Given the description of an element on the screen output the (x, y) to click on. 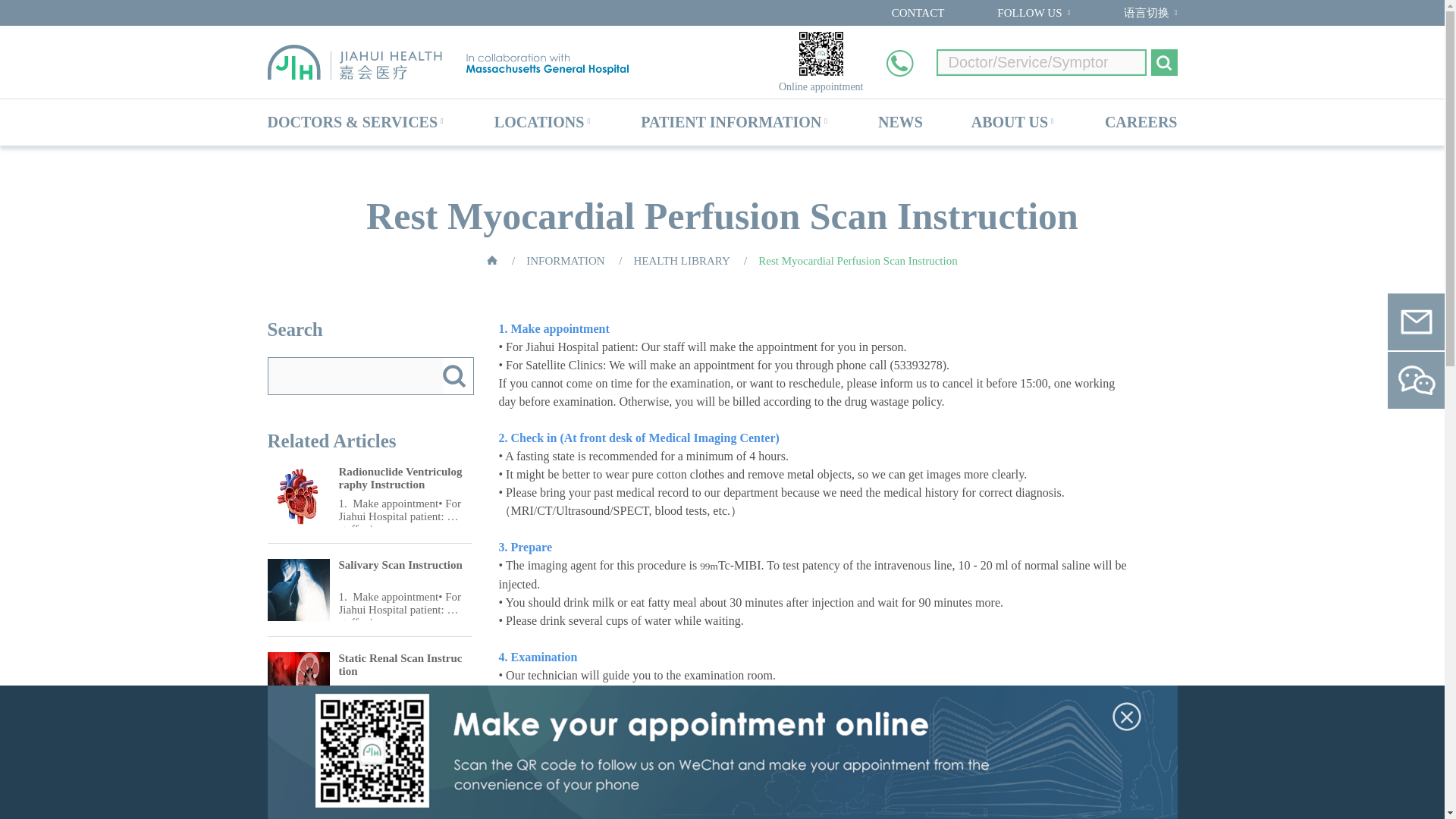
ABOUT US (1009, 121)
LOCATIONS (540, 121)
CAREERS (1141, 121)
Online appointment (820, 86)
Online appointment (821, 53)
CONTACT (917, 12)
FOLLOW US (1029, 12)
CONTACT (917, 12)
FOLLOW US (1029, 12)
SEARCH ALL (1164, 62)
Jiahui Health (451, 62)
PATIENT INFORMATION (730, 121)
NEWS (900, 121)
